Given the description of an element on the screen output the (x, y) to click on. 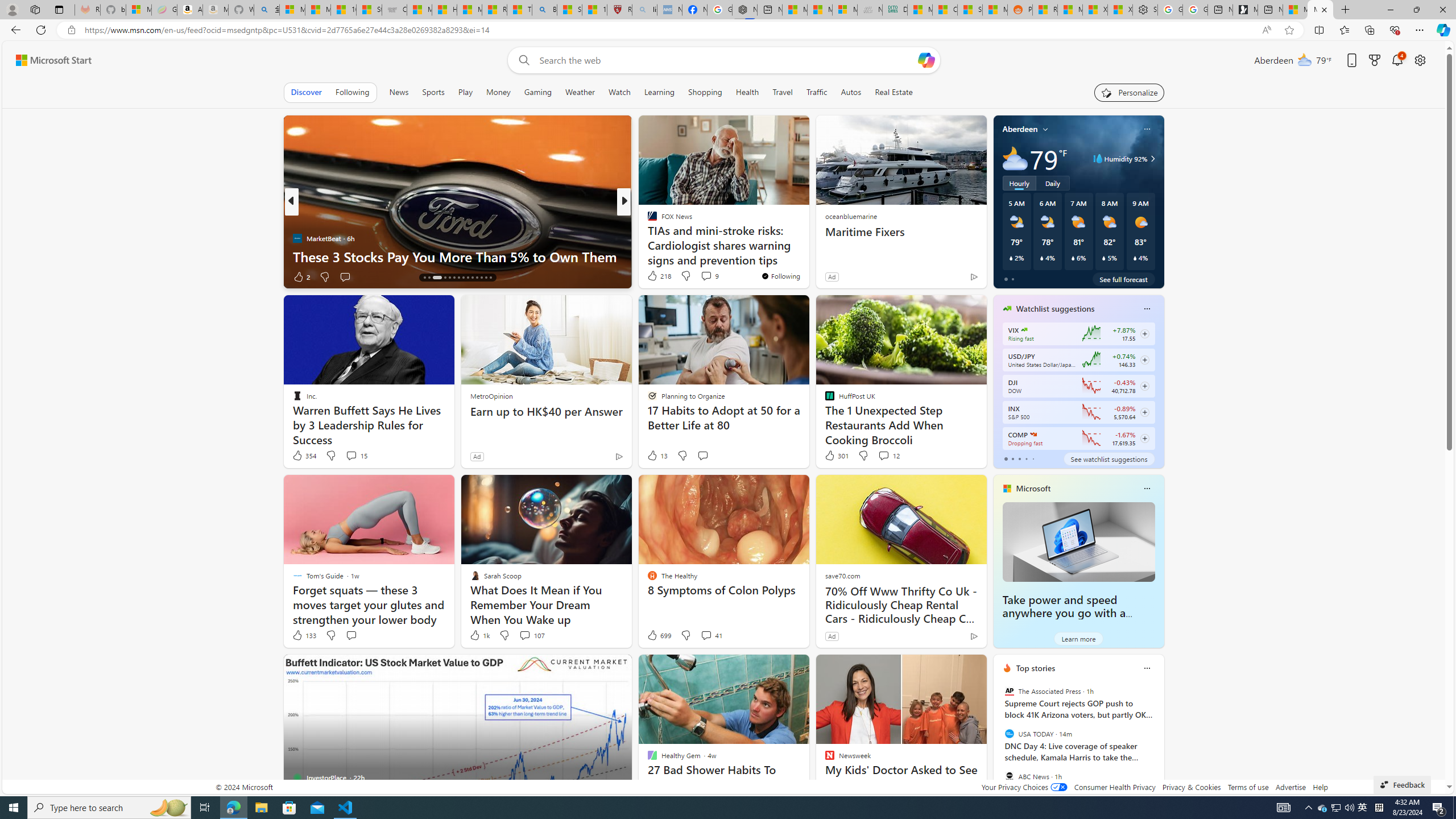
View comments 107 Comment (530, 634)
Aberdeen (1019, 128)
View comments 34 Comment (707, 276)
AutomationID: tab-17 (436, 277)
Learning (658, 92)
AutomationID: tab-21 (458, 277)
Enter your search term (726, 59)
Medical Xpress (647, 219)
tab-4 (1032, 458)
